Given the description of an element on the screen output the (x, y) to click on. 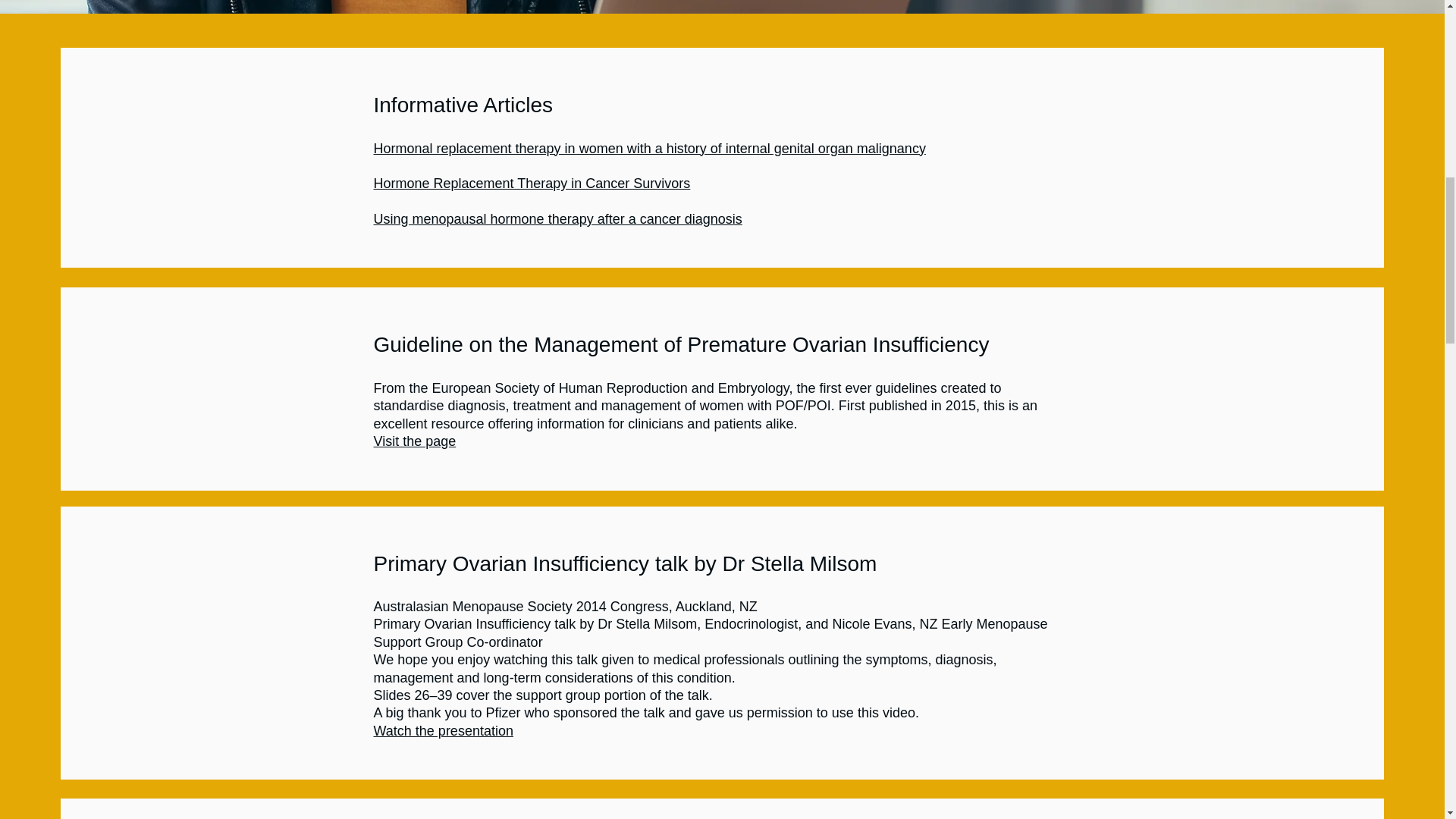
Watch the presentation (442, 730)
Hormone Replacement Therapy in Cancer Survivors (531, 183)
Visit the page (413, 441)
Using menopausal hormone therapy after a cancer diagnosis (556, 218)
